Given the description of an element on the screen output the (x, y) to click on. 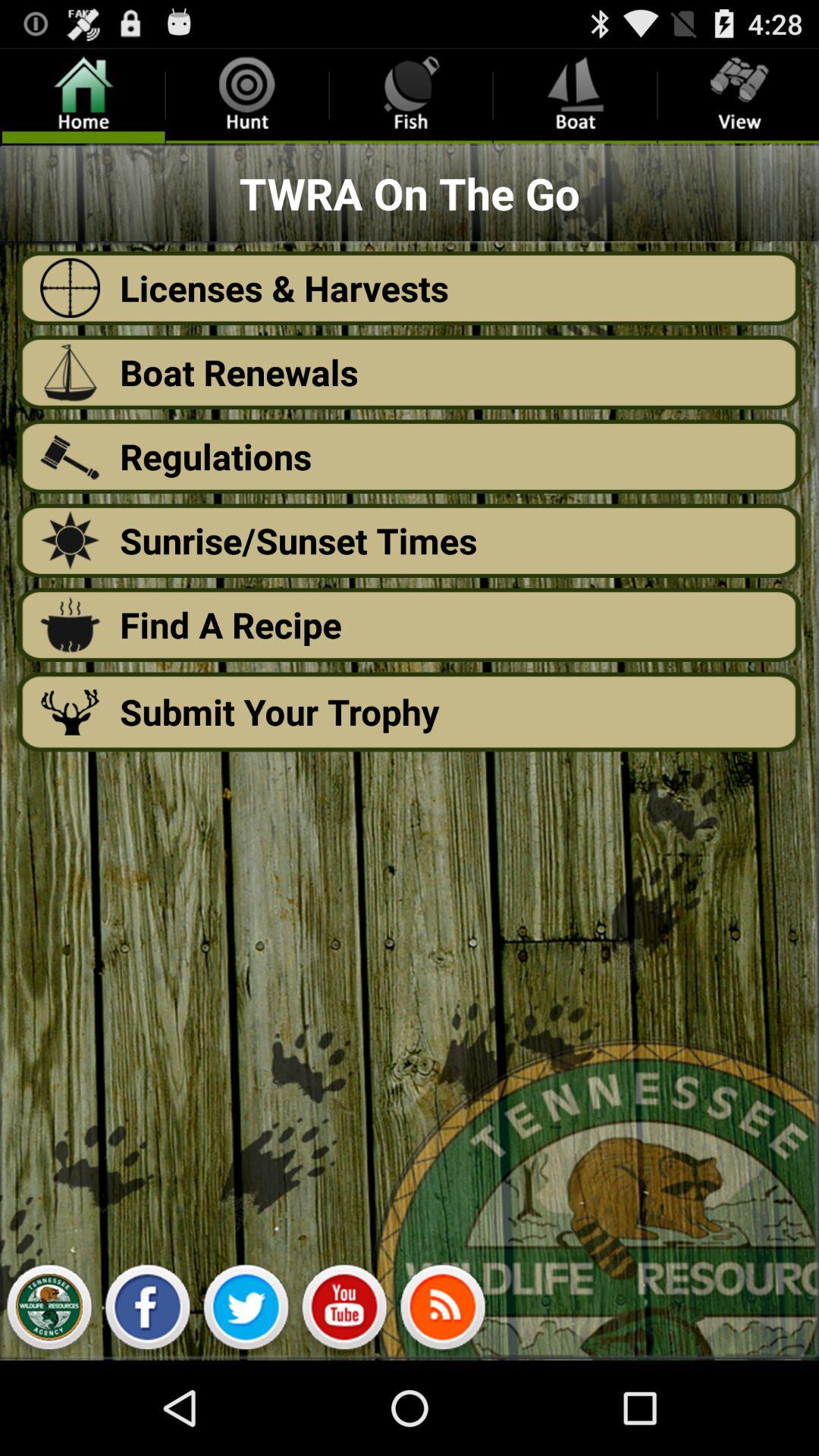
go to youtube page (344, 1311)
